Given the description of an element on the screen output the (x, y) to click on. 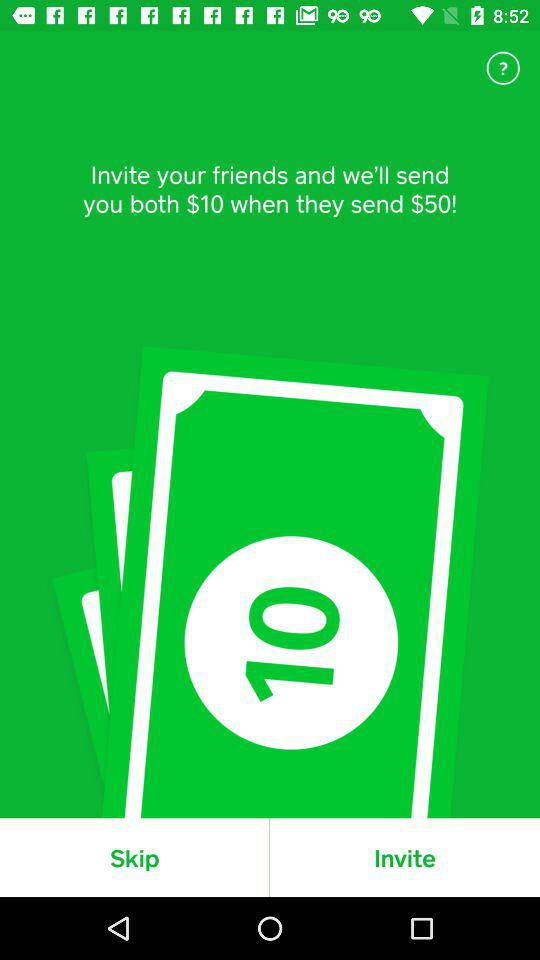
launch icon next to invite (134, 857)
